Given the description of an element on the screen output the (x, y) to click on. 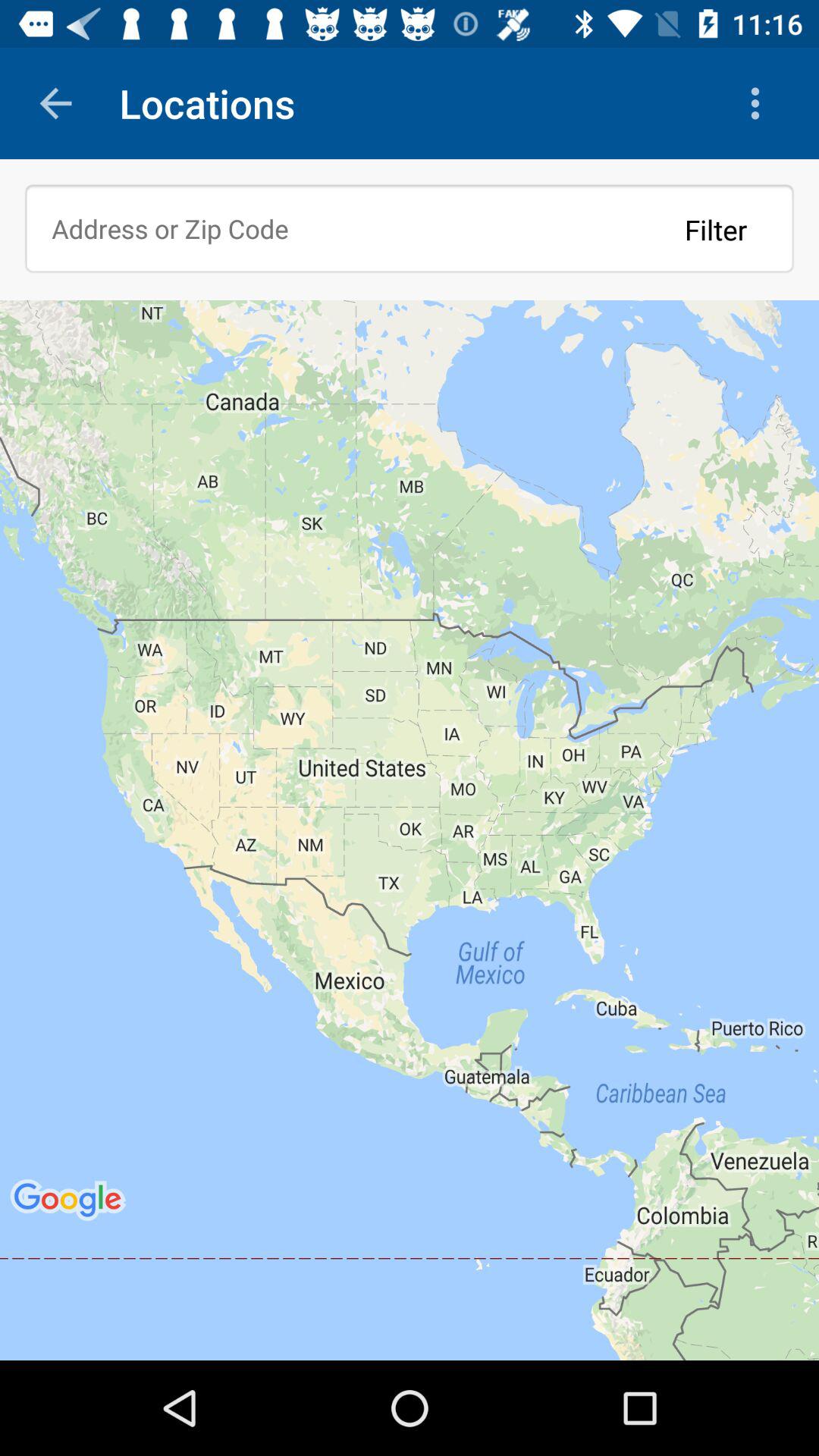
click filter icon (715, 229)
